Given the description of an element on the screen output the (x, y) to click on. 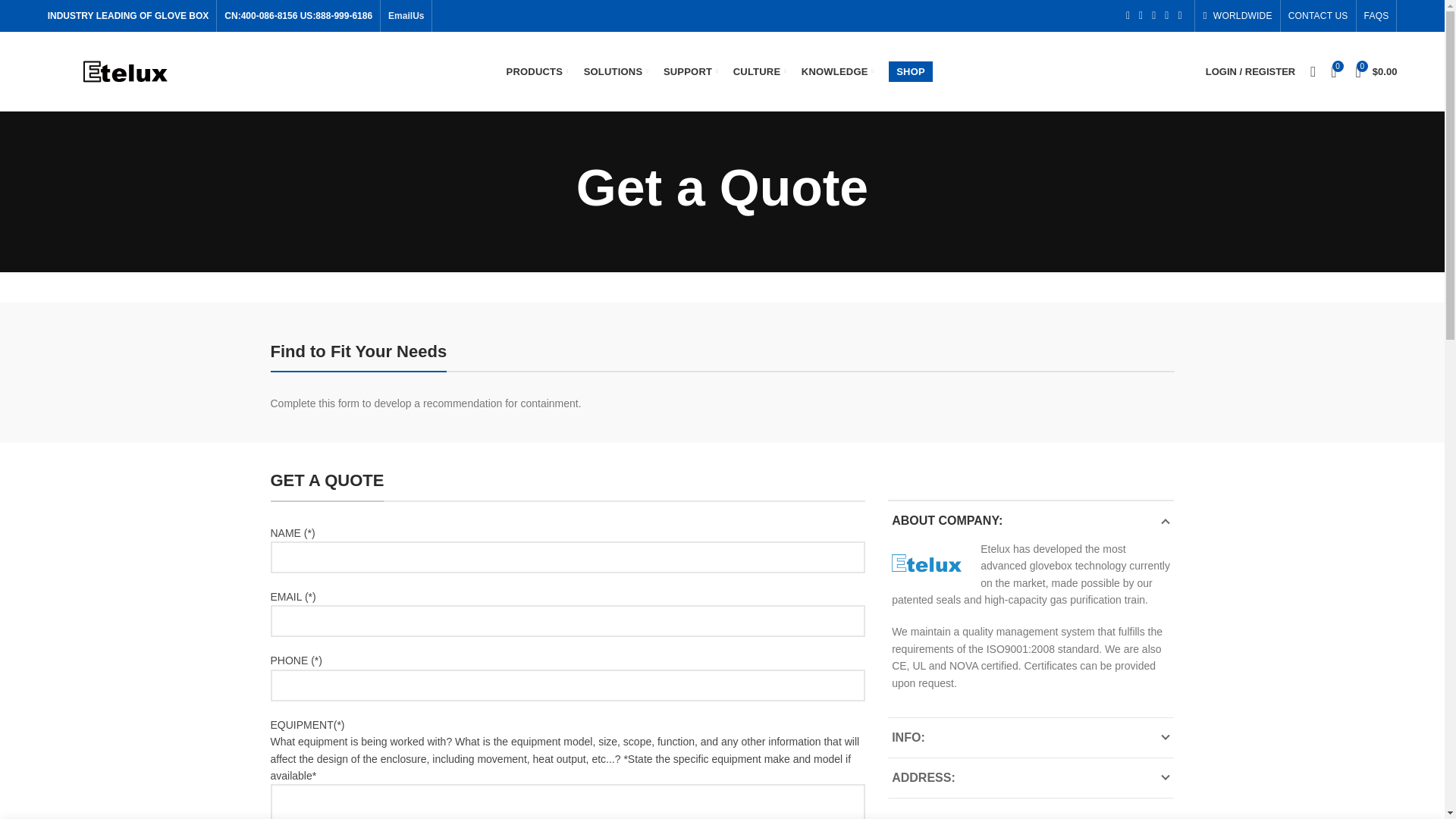
WORLDWIDE (1237, 15)
EmailUs (405, 15)
CONTACT US (1318, 15)
PRODUCTS (537, 71)
FAQS (1376, 15)
